Given the description of an element on the screen output the (x, y) to click on. 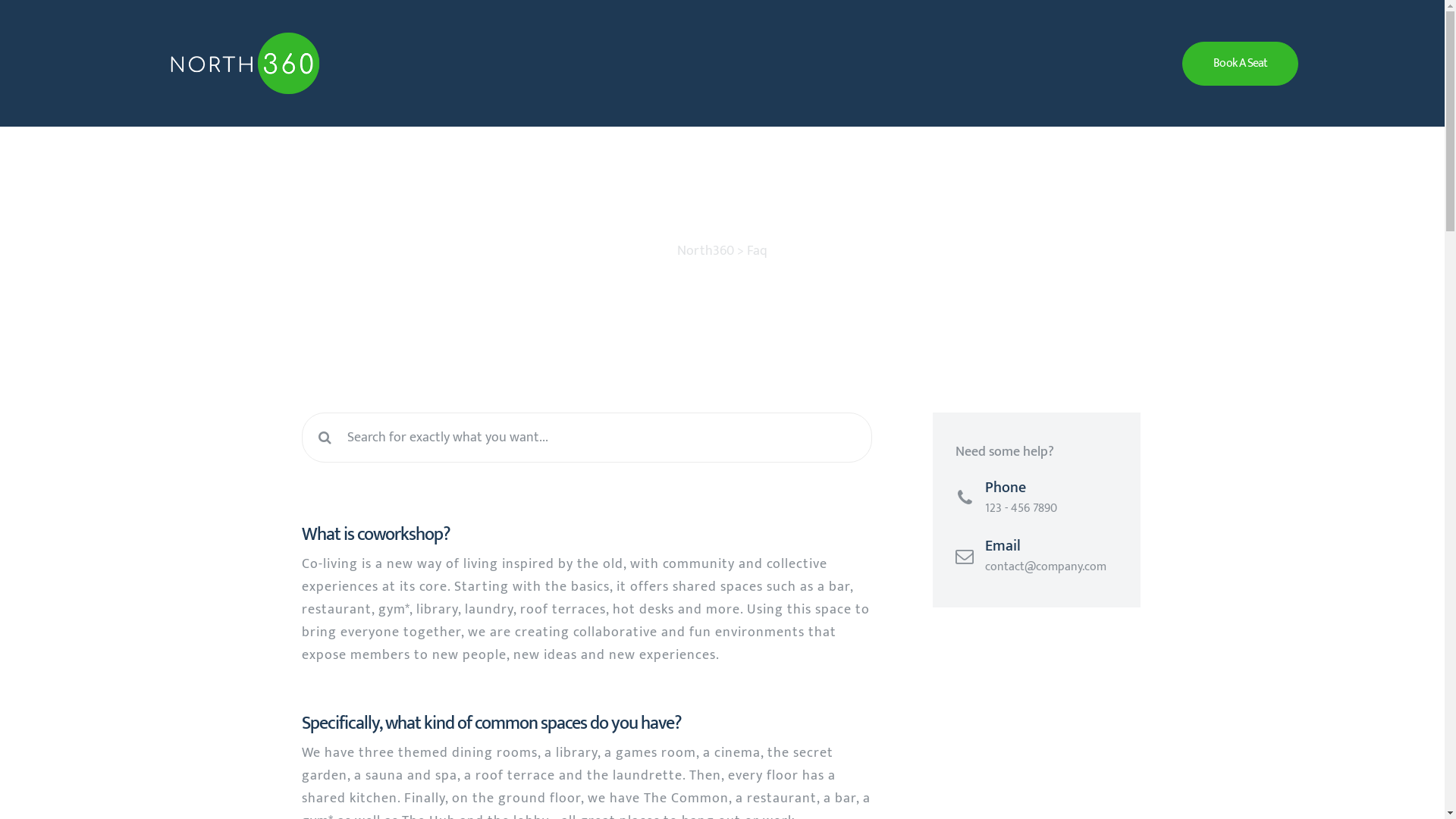
Book A Seat Element type: text (1240, 63)
North360 Element type: text (705, 250)
Search Element type: hover (601, 437)
